Given the description of an element on the screen output the (x, y) to click on. 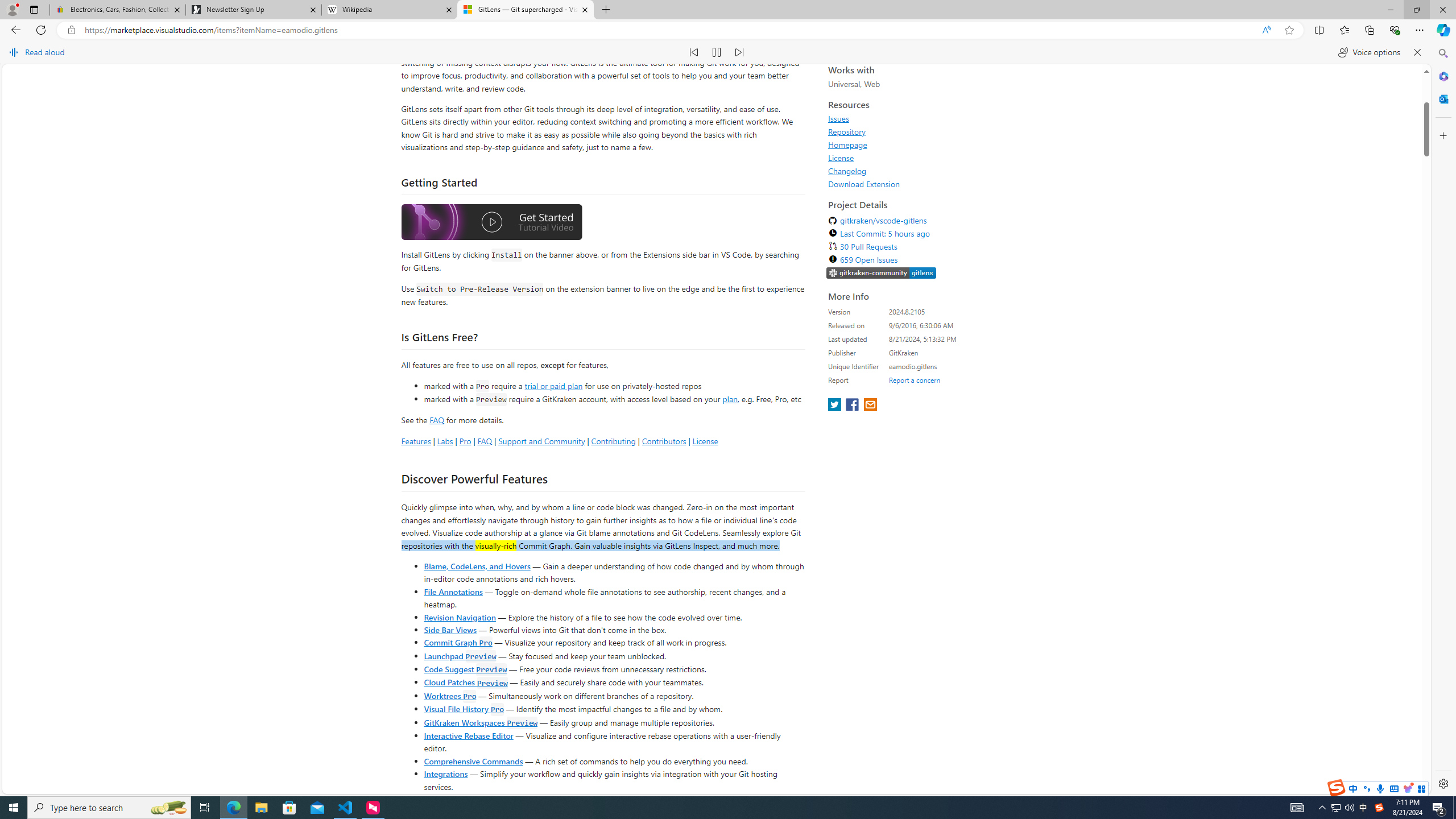
Homepage (847, 330)
Newsletter Sign Up (253, 9)
